Given the description of an element on the screen output the (x, y) to click on. 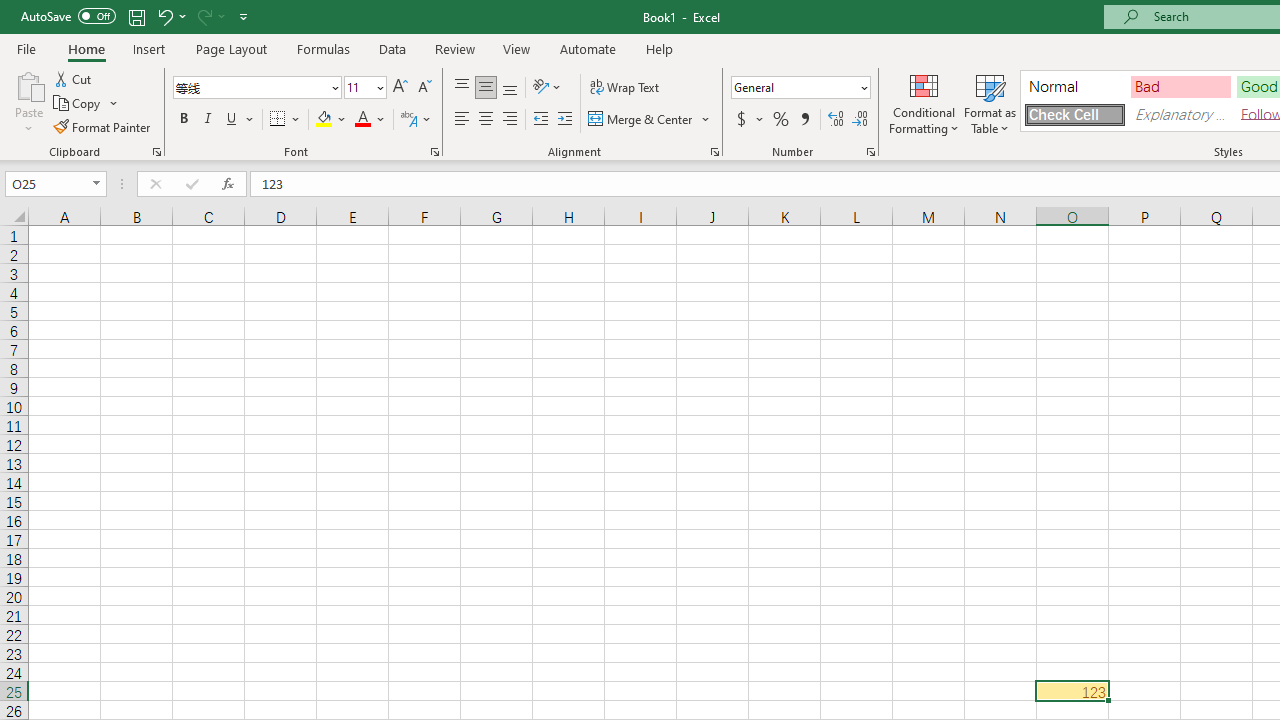
Quick Access Toolbar (136, 16)
Normal (1074, 86)
Decrease Indent (540, 119)
Help (660, 48)
Decrease Font Size (424, 87)
Bad (1180, 86)
Format as Table (990, 102)
Number Format (800, 87)
Copy (78, 103)
Font Size (358, 87)
Merge & Center (641, 119)
Increase Font Size (399, 87)
Align Left (461, 119)
Bottom Border (278, 119)
Paste (28, 84)
